Given the description of an element on the screen output the (x, y) to click on. 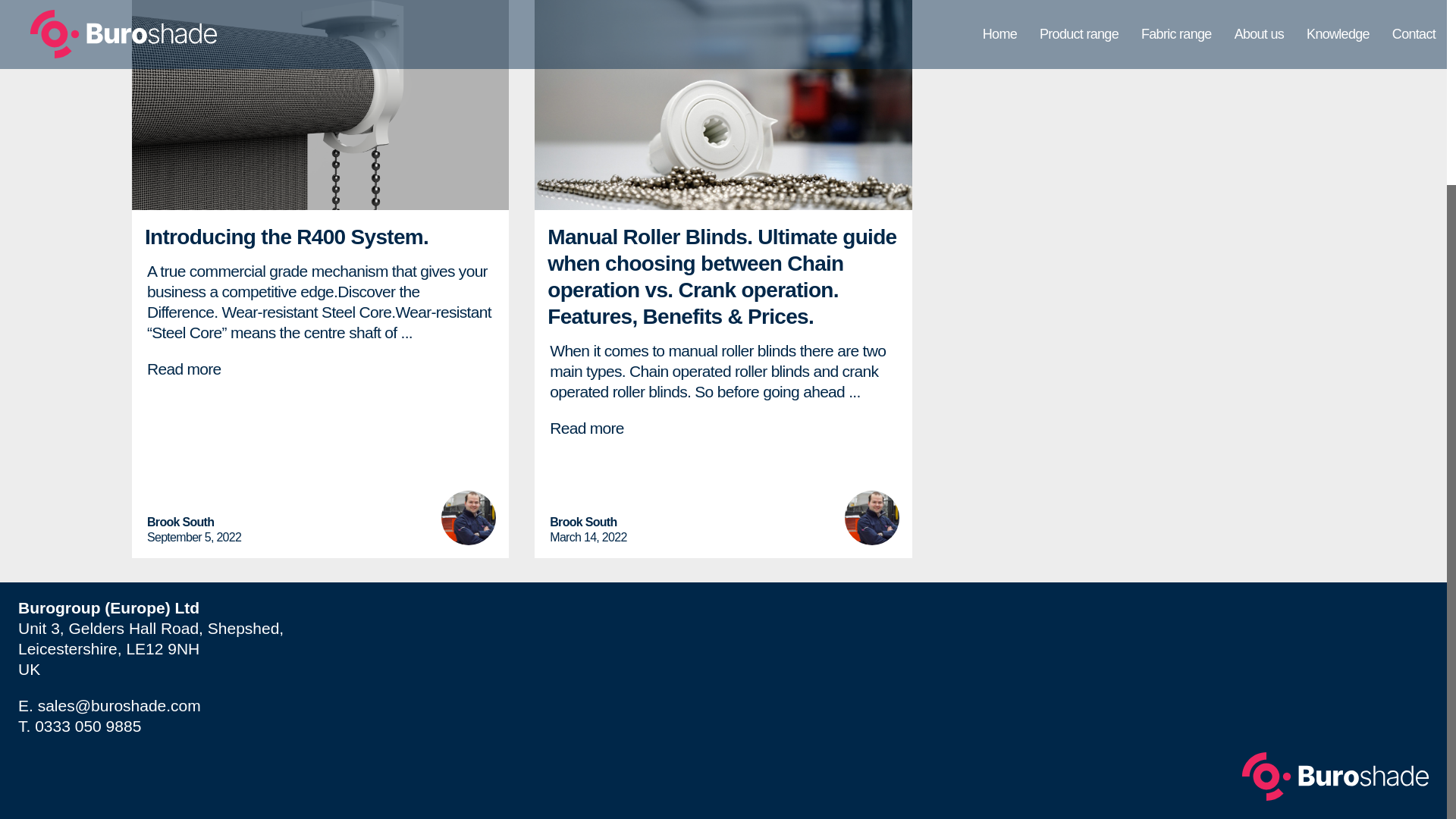
Read more (587, 427)
0333 050 9885 (87, 725)
Read more (184, 368)
Introducing the R400 System. (286, 236)
